Given the description of an element on the screen output the (x, y) to click on. 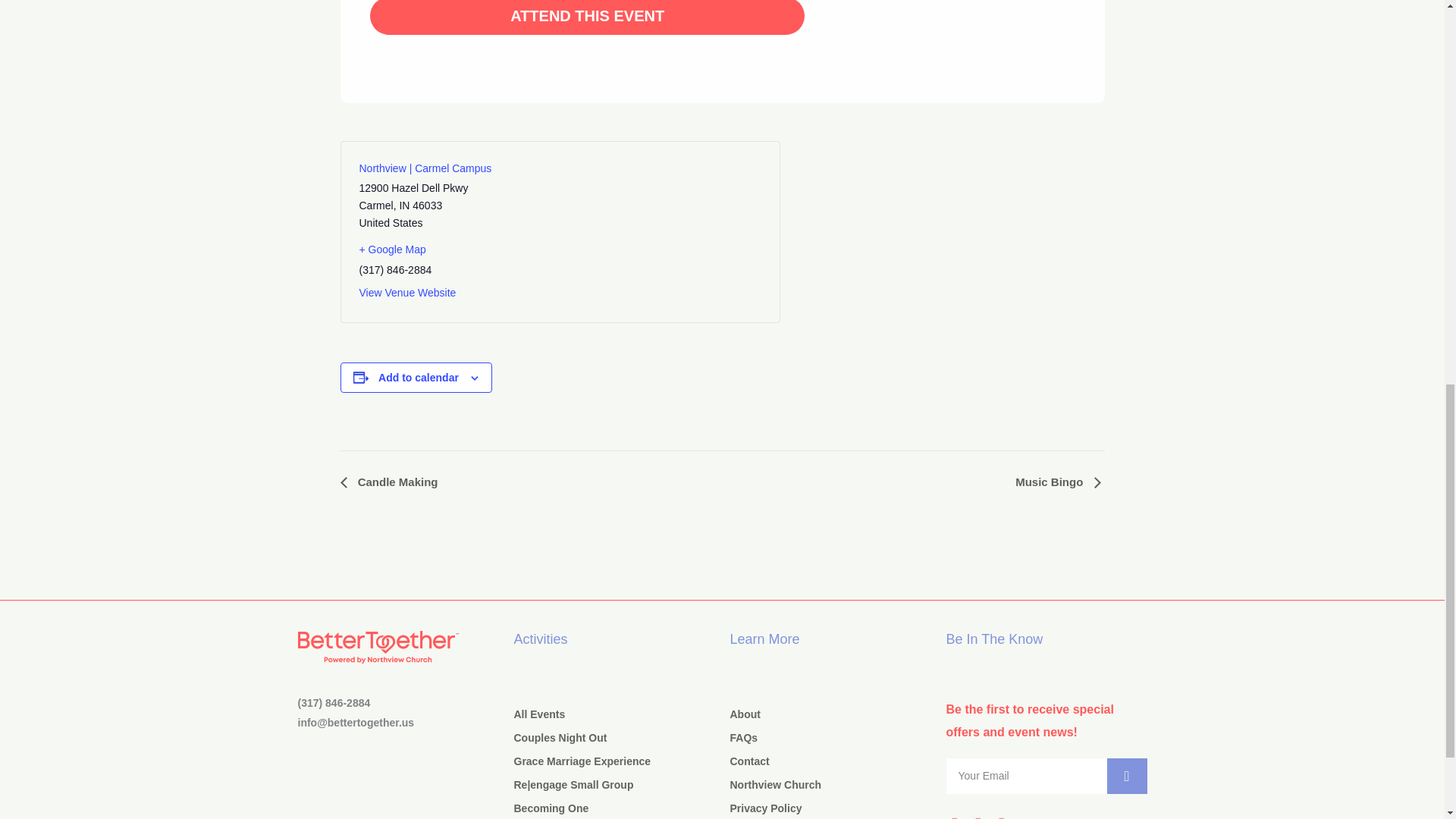
Click to view a Google Map (560, 249)
